Given the description of an element on the screen output the (x, y) to click on. 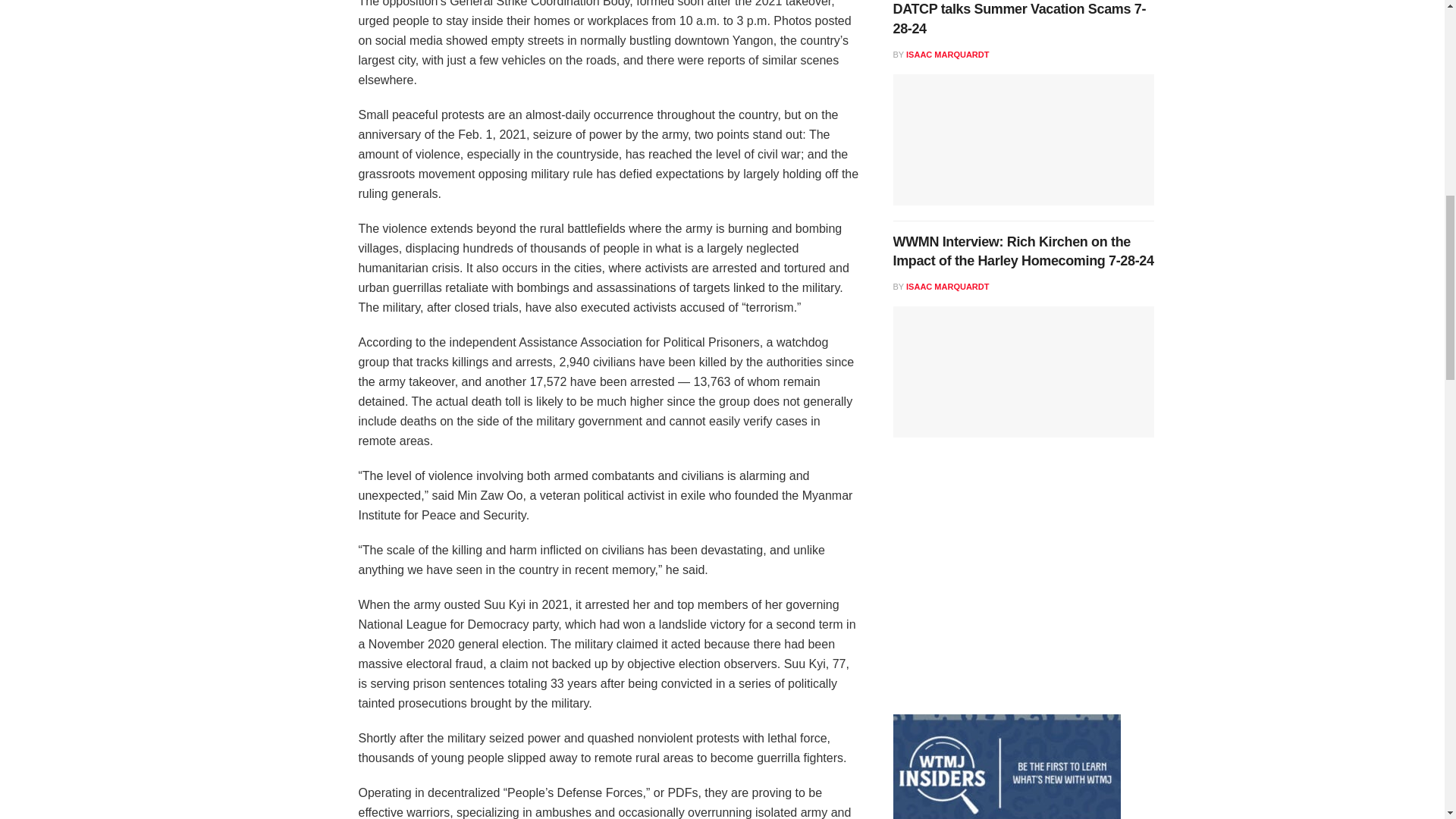
3rd party ad content (1007, 588)
